Given the description of an element on the screen output the (x, y) to click on. 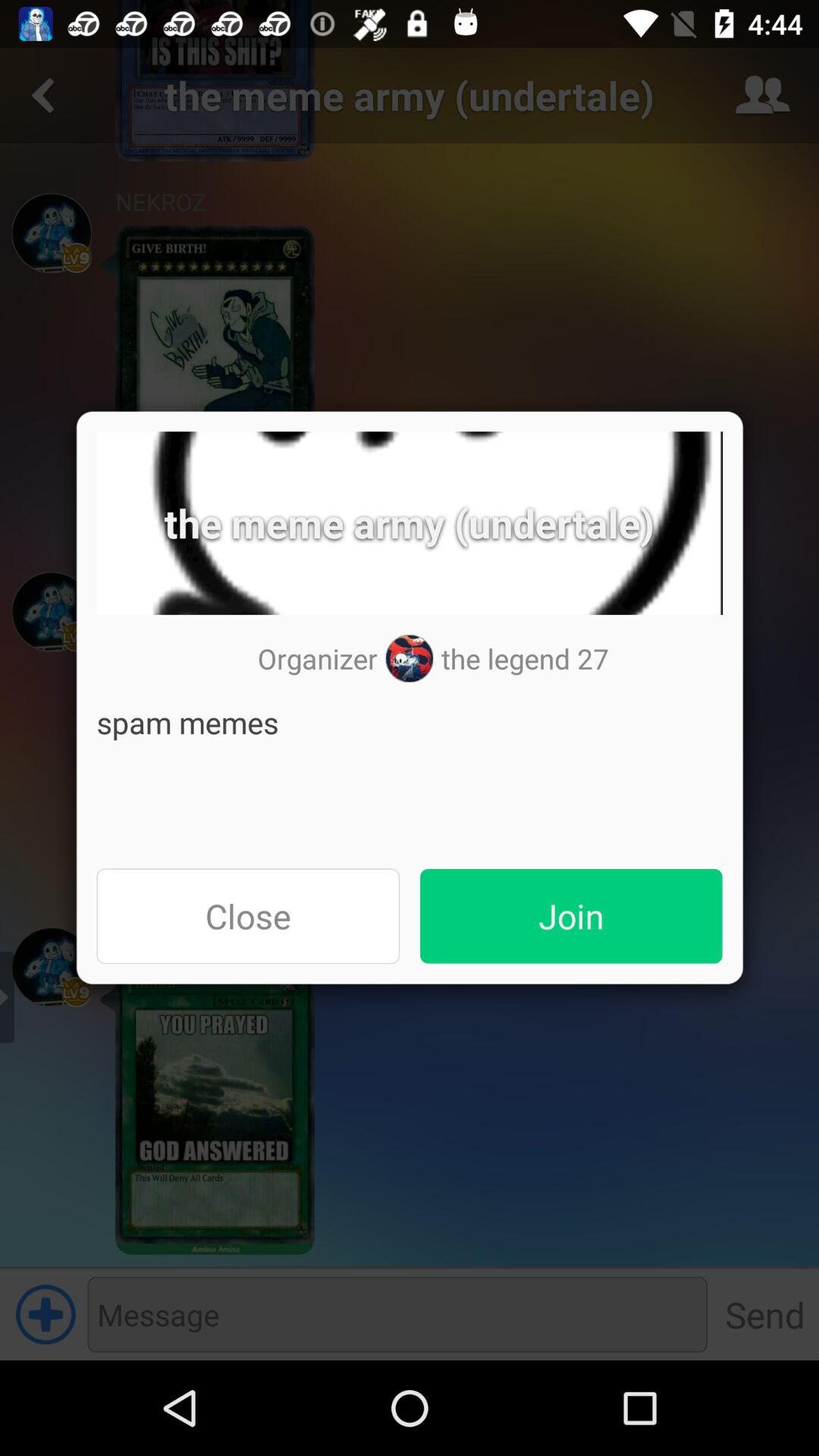
open the icon to the right of the close item (570, 916)
